Given the description of an element on the screen output the (x, y) to click on. 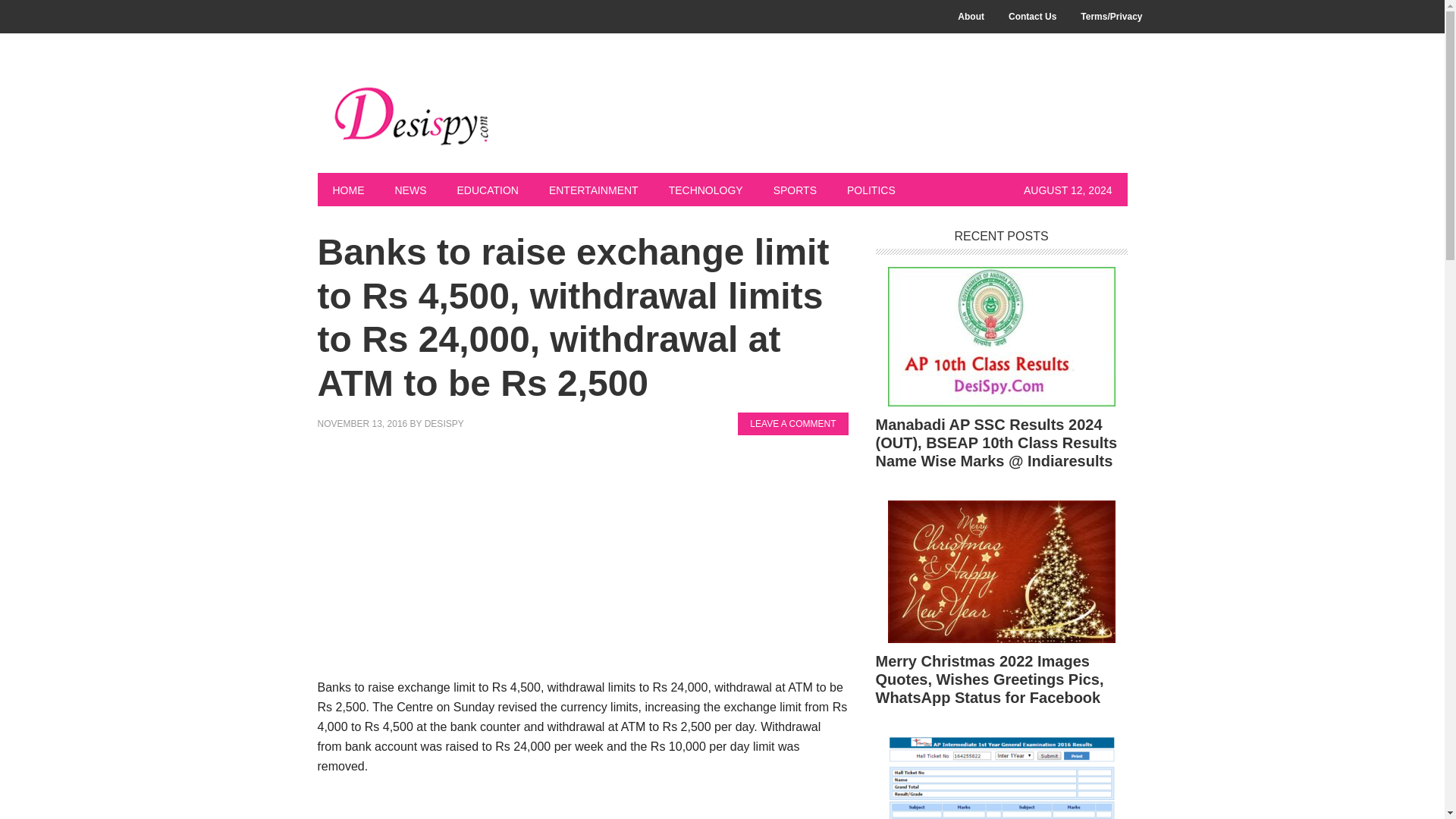
Advertisement (582, 563)
POLITICS (871, 189)
LEAVE A COMMENT (792, 423)
DESISPY (444, 423)
SPORTS (794, 189)
DESISPY.COM (419, 115)
NEWS (409, 189)
Contact Us (1031, 16)
TECHNOLOGY (705, 189)
